Given the description of an element on the screen output the (x, y) to click on. 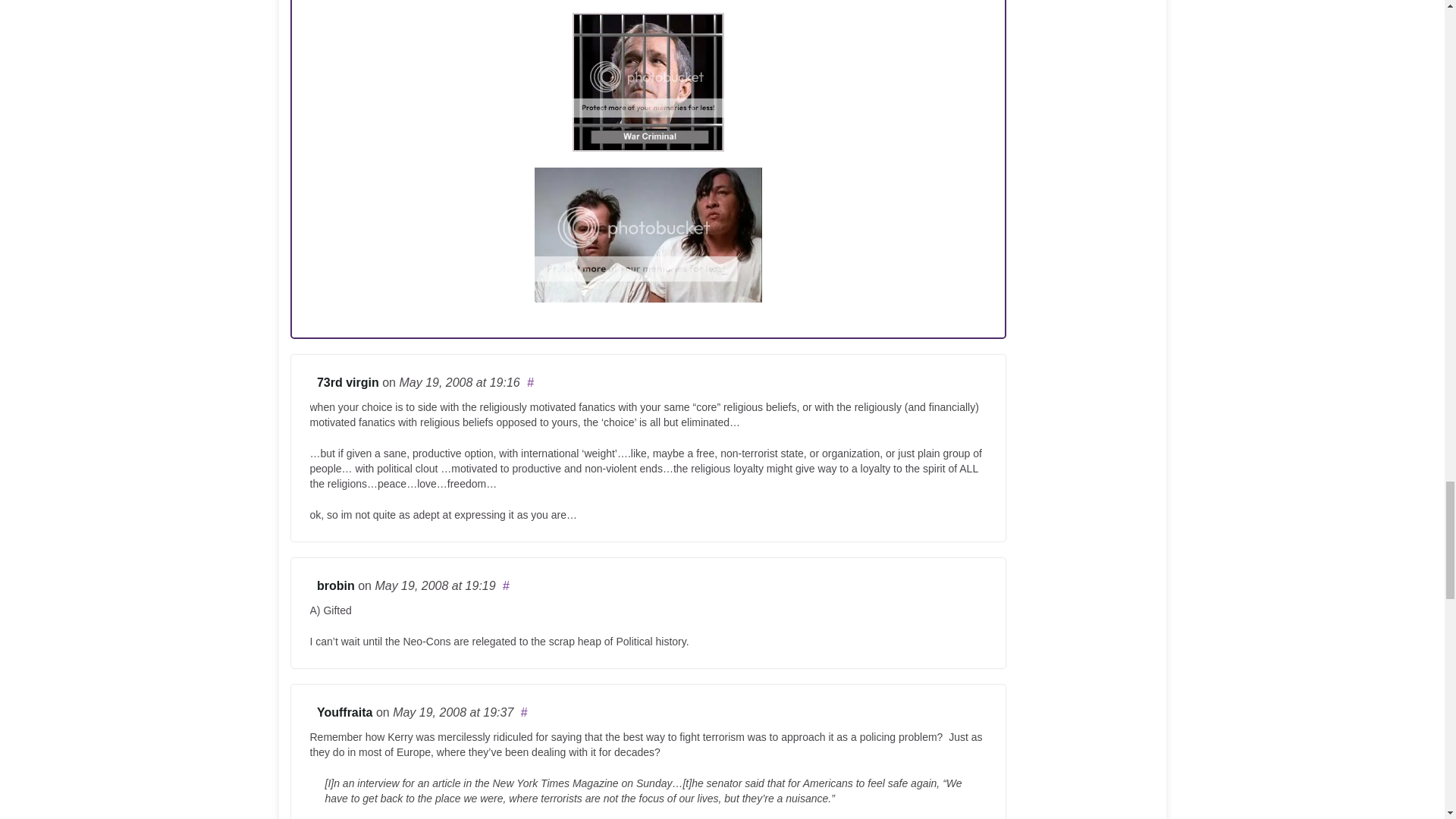
73rd virgin (347, 382)
brobin (336, 585)
Youffraita (344, 712)
